Given the description of an element on the screen output the (x, y) to click on. 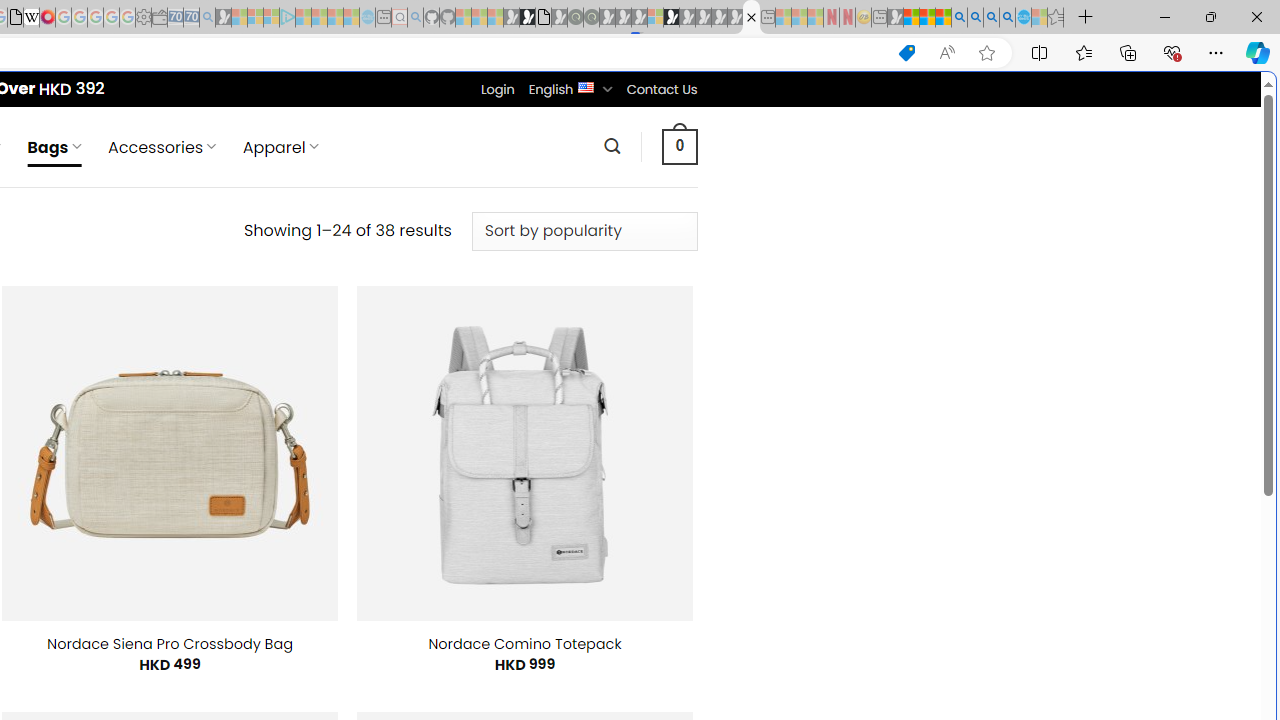
Sign in to your account - Sleeping (655, 17)
MediaWiki (47, 17)
2009 Bing officially replaced Live Search on June 3 - Search (975, 17)
